Given the description of an element on the screen output the (x, y) to click on. 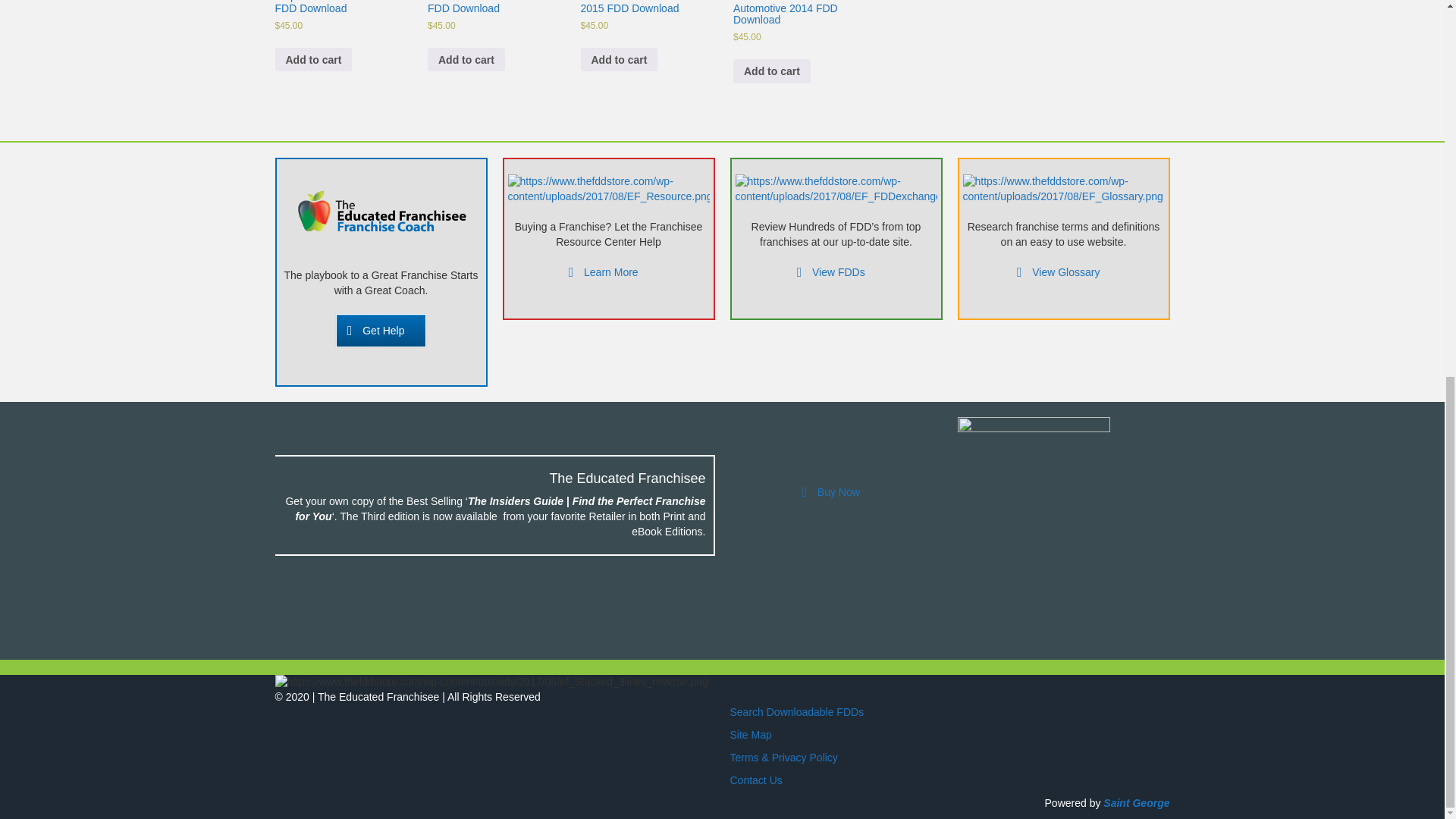
Add to cart (619, 59)
Get Help (381, 330)
Add to cart (466, 59)
Add to cart (313, 59)
View FDDs (835, 271)
Learn More (607, 271)
Add to cart (771, 70)
